Given the description of an element on the screen output the (x, y) to click on. 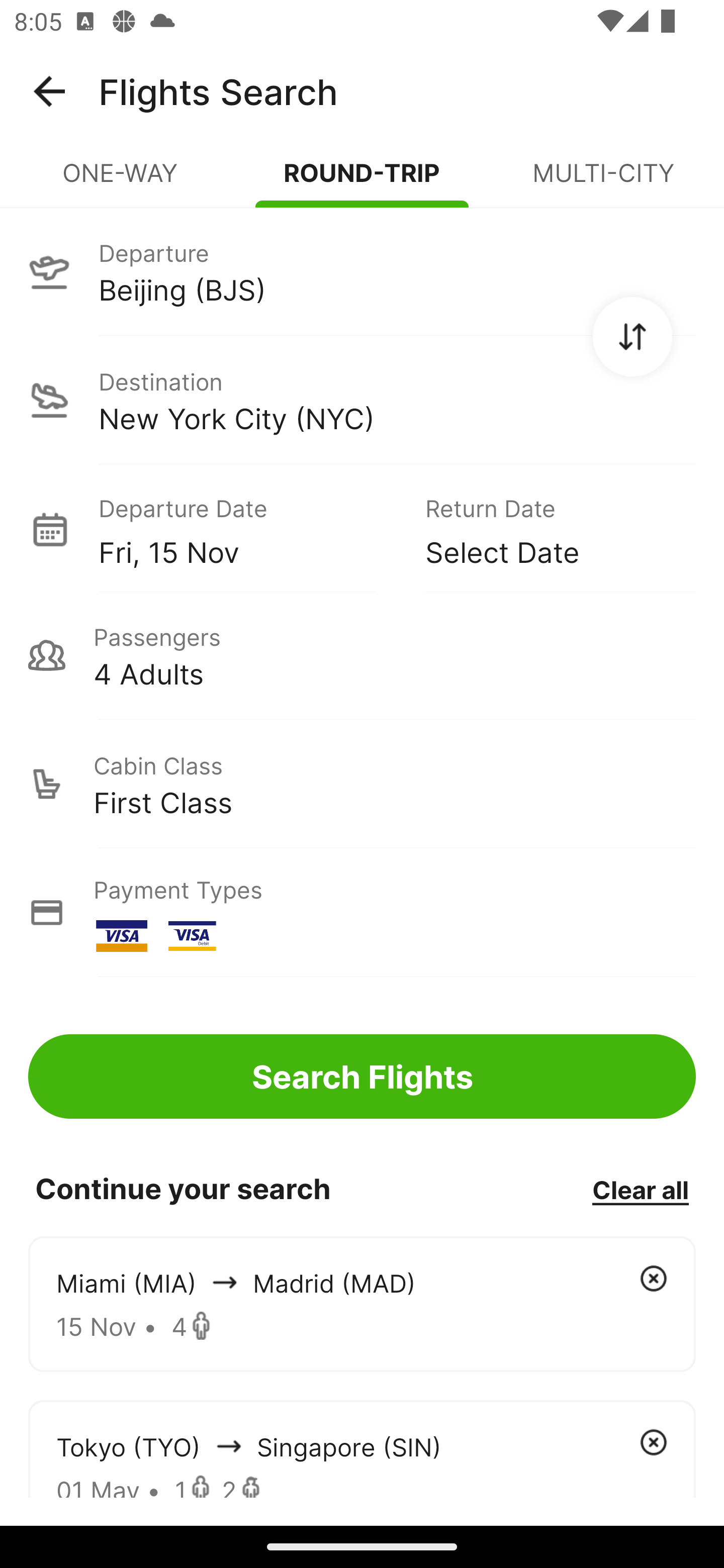
ONE-WAY (120, 180)
ROUND-TRIP (361, 180)
MULTI-CITY (603, 180)
Departure Beijing (BJS) (362, 270)
Destination New York City (NYC) (362, 400)
Departure Date Fri, 15 Nov (247, 528)
Return Date Select Date (546, 528)
Passengers 4 Adults (362, 655)
Cabin Class First Class (362, 783)
Payment Types (362, 912)
Search Flights (361, 1075)
Clear all (640, 1189)
Miami (MIA)  arrowIcon  Madrid (MAD) 15 Nov •  4  (361, 1303)
